Given the description of an element on the screen output the (x, y) to click on. 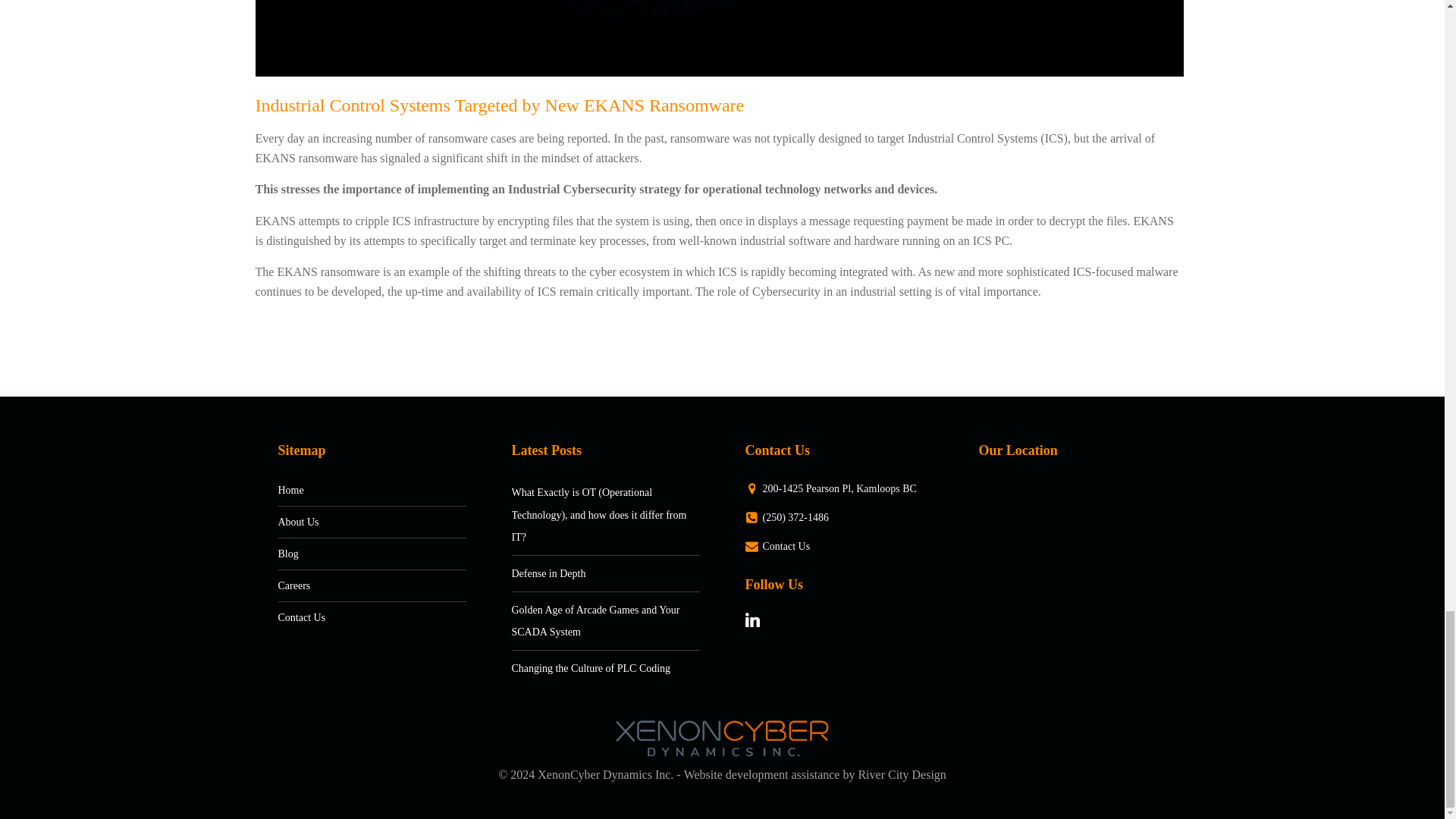
Careers (353, 585)
website design kamloops (815, 774)
Blog (353, 553)
Website development assistance by River City Design (815, 774)
About Us (353, 521)
Changing the Culture of PLC Coding (590, 668)
Contact Us (353, 617)
Contact Us (829, 546)
Golden Age of Arcade Games and Your SCADA System (595, 621)
Defense in Depth  (549, 573)
Home (353, 489)
